Given the description of an element on the screen output the (x, y) to click on. 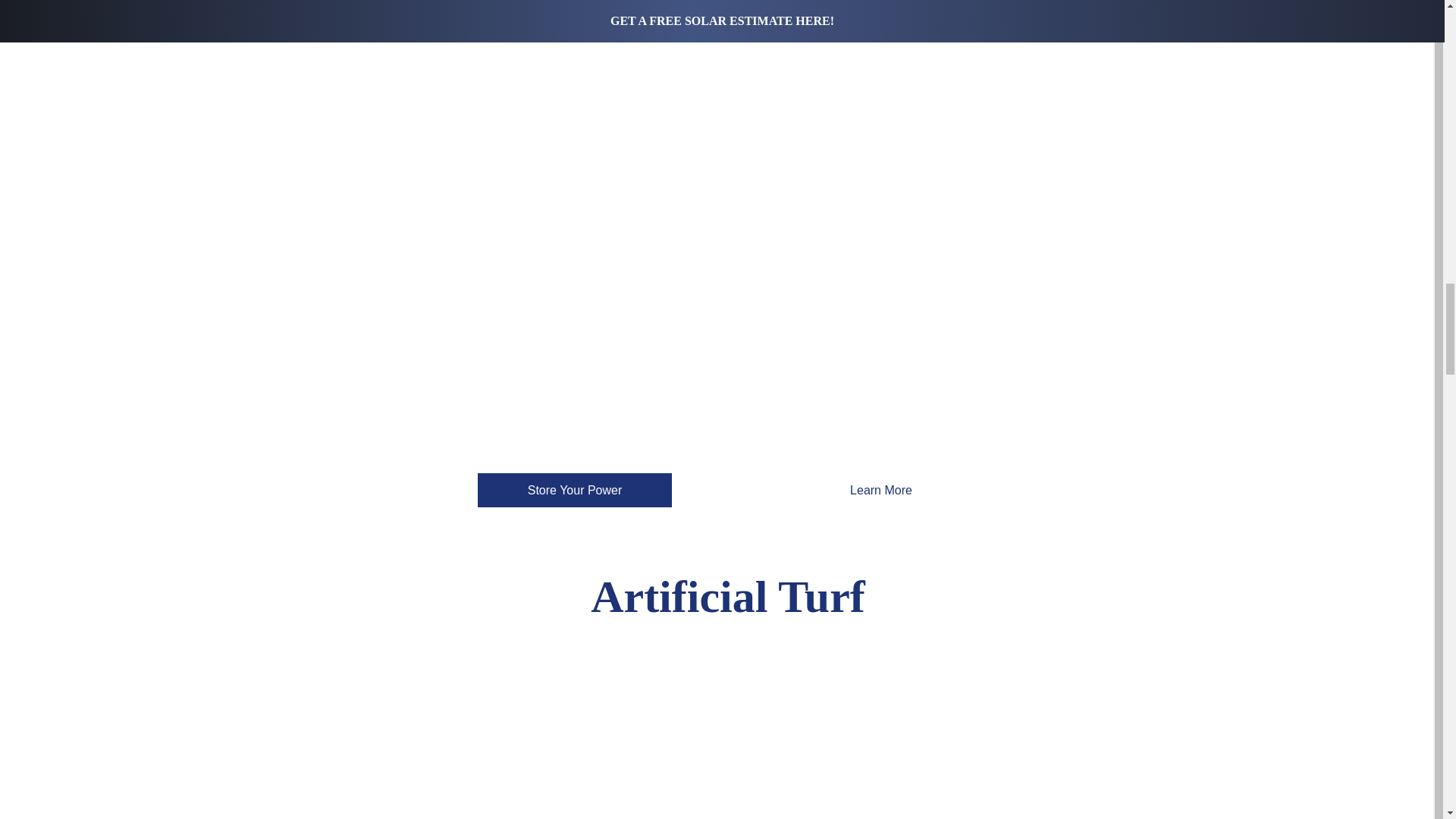
Learn More (881, 489)
Store Your Power (574, 489)
